Given the description of an element on the screen output the (x, y) to click on. 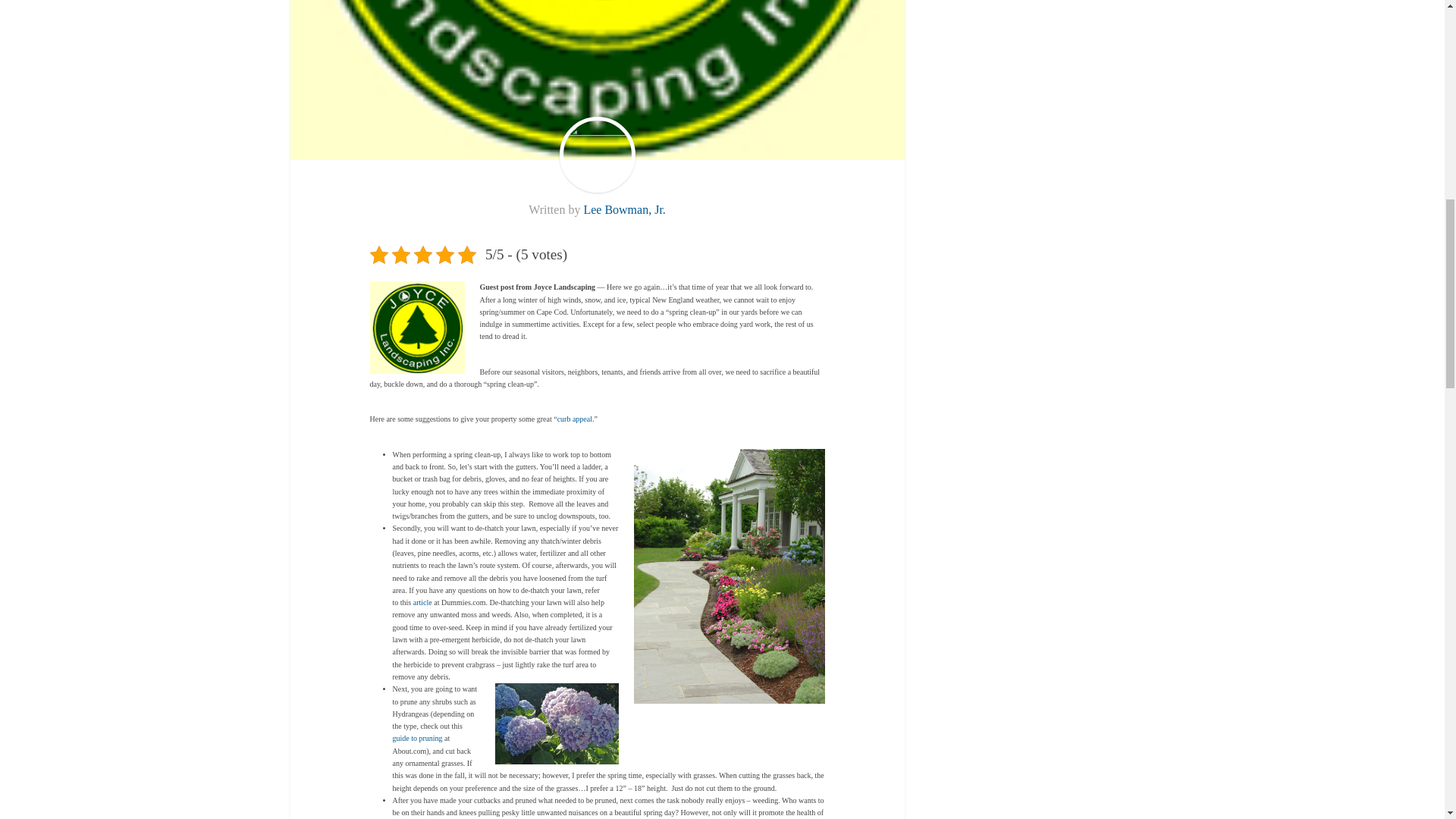
guide to pruning (417, 737)
How to Dethatch Your Lawn for Dummies (422, 602)
Lee Bowman, Jr. (624, 209)
curb appeal (574, 418)
www.Gardening.About.com - Pruning Plants FAQ (417, 737)
article (422, 602)
Joyce Landscaping - Cape Cod (416, 327)
